Given the description of an element on the screen output the (x, y) to click on. 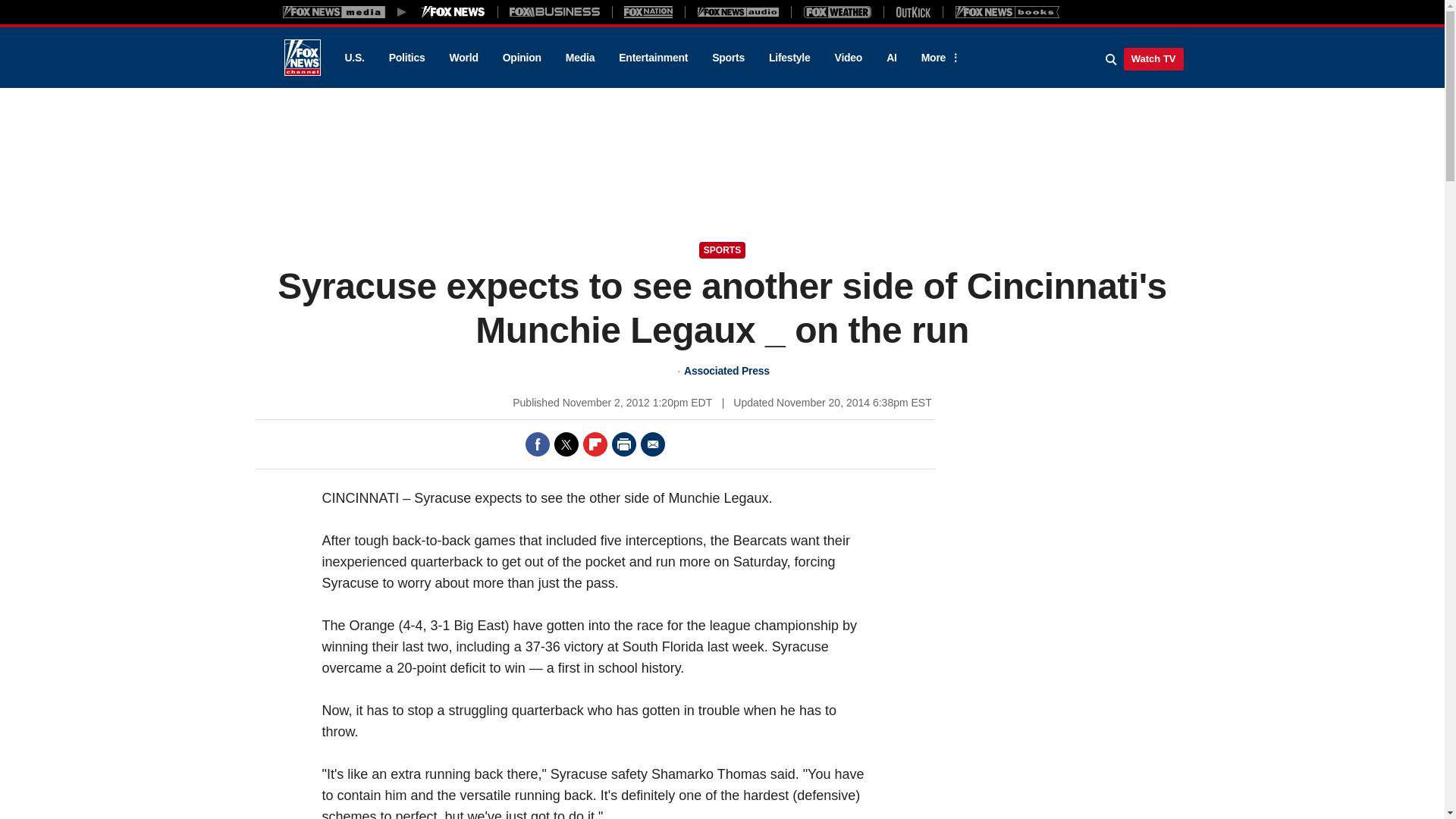
Fox Weather (836, 11)
Books (1007, 11)
Lifestyle (789, 57)
U.S. (353, 57)
World (464, 57)
AI (891, 57)
Politics (407, 57)
Video (848, 57)
Fox News Media (453, 11)
Opinion (521, 57)
Media (580, 57)
Entertainment (653, 57)
Sports (728, 57)
Outkick (912, 11)
More (938, 57)
